Given the description of an element on the screen output the (x, y) to click on. 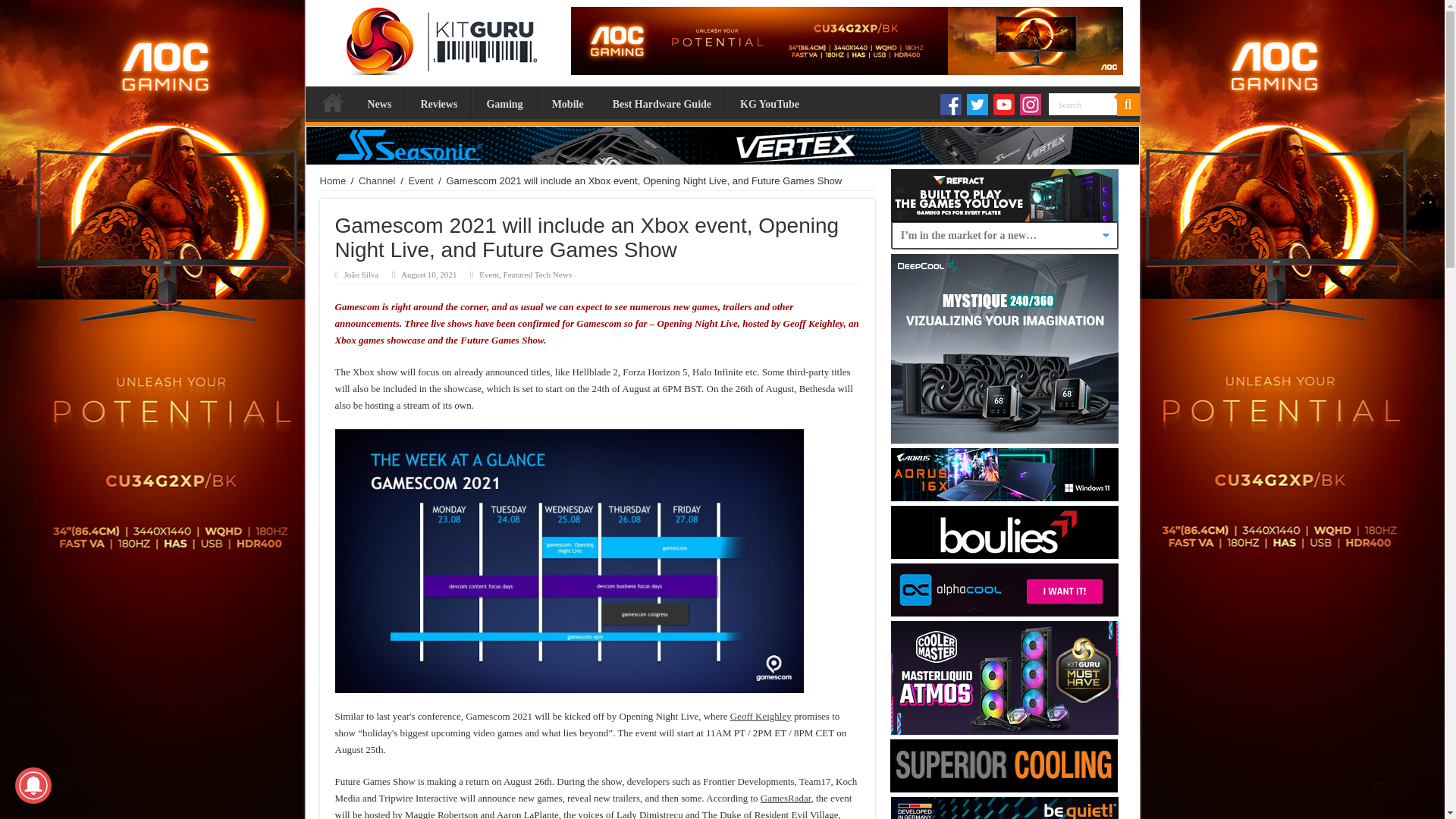
Search (1082, 104)
Twitter (977, 104)
Youtube (1003, 104)
Best Hardware Guide (661, 101)
Gaming (503, 101)
Search (1127, 104)
Search (1082, 104)
Home (333, 180)
Instagram (1030, 104)
News (379, 101)
KitGuru (437, 37)
Featured Tech News (537, 274)
KG YouTube (768, 101)
Channel (376, 180)
